Given the description of an element on the screen output the (x, y) to click on. 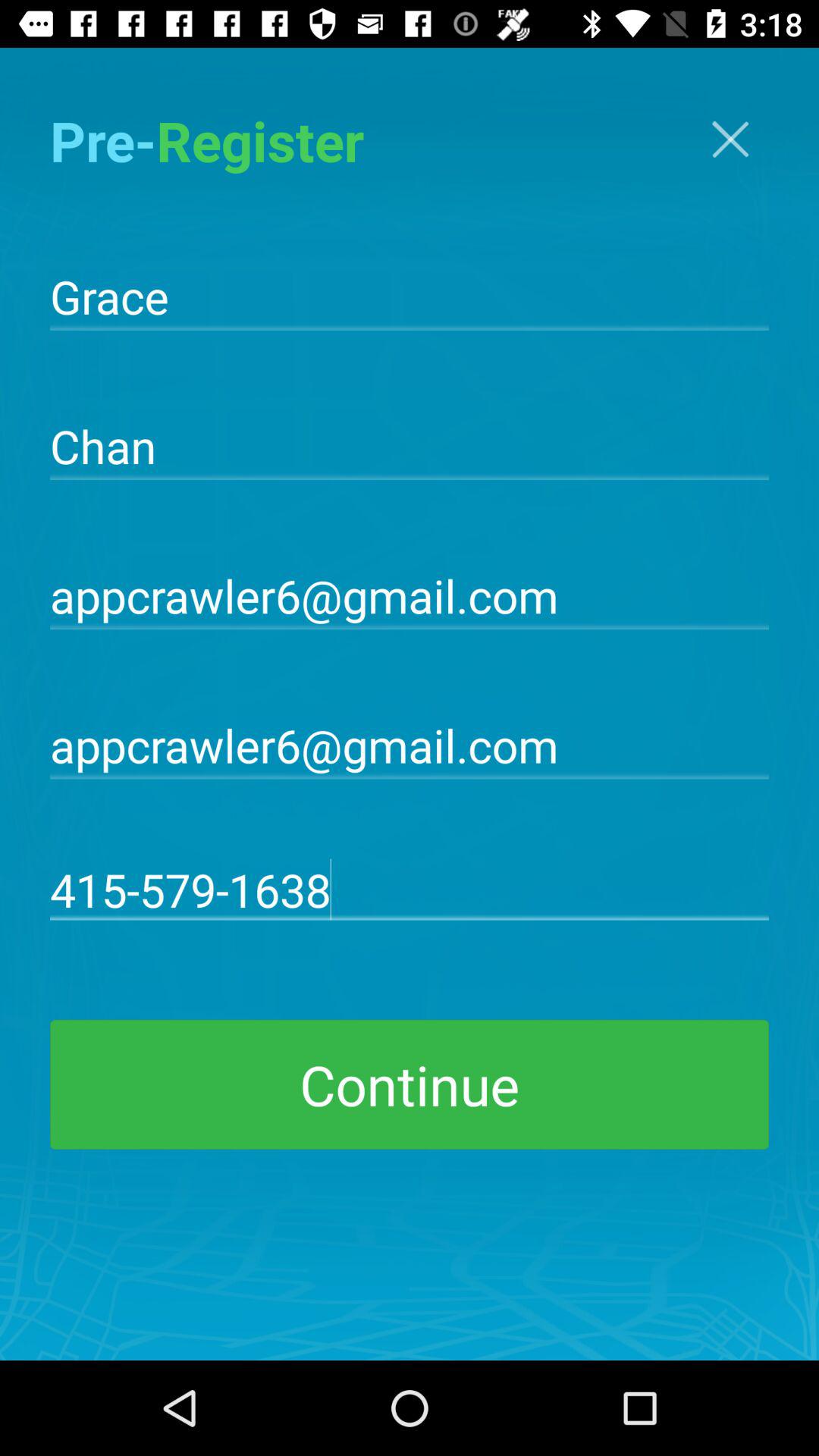
close window (730, 139)
